Given the description of an element on the screen output the (x, y) to click on. 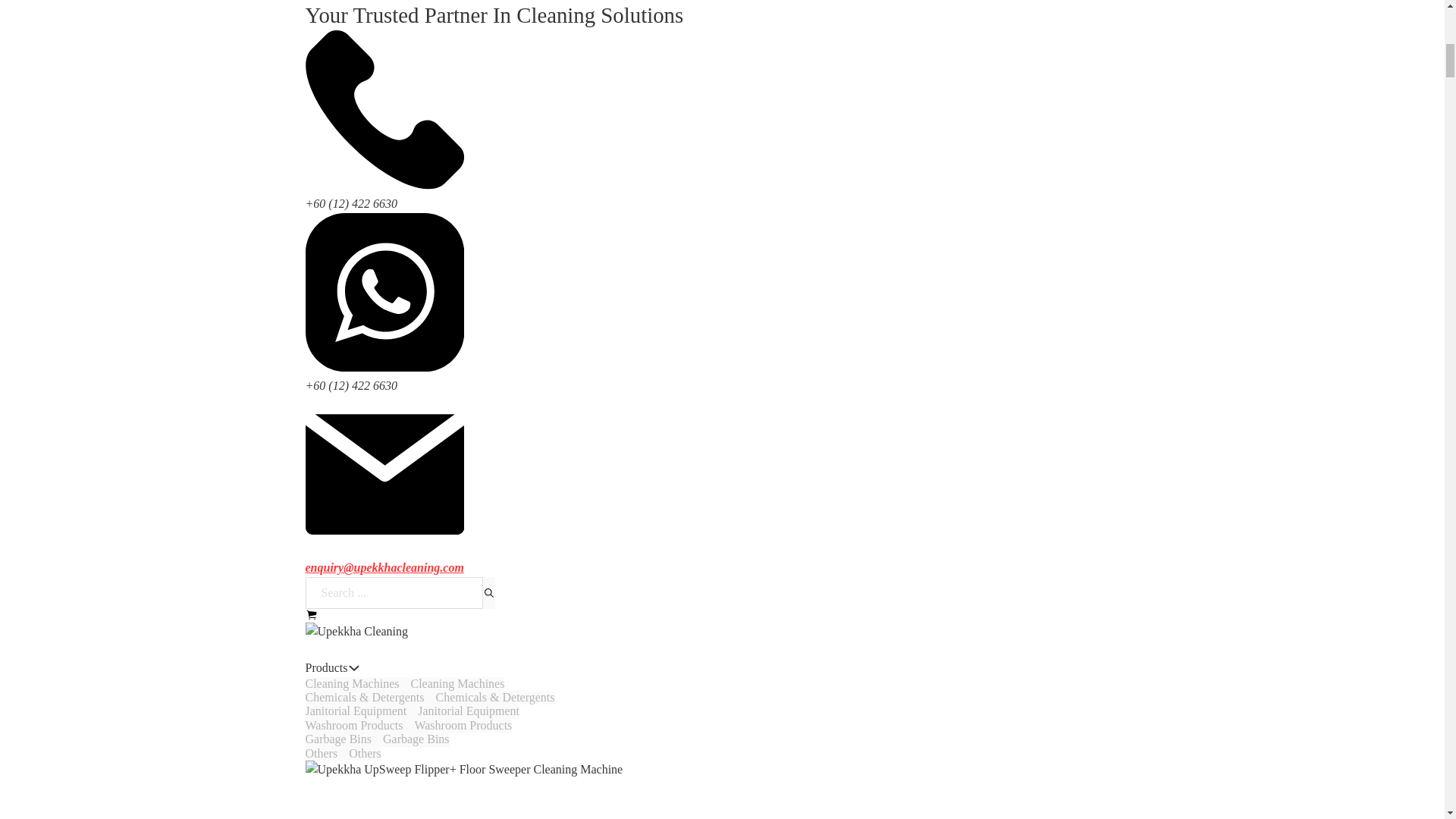
Floor Scrubber (340, 461)
Auto Scrubber (339, 648)
Floor Sweeper (339, 253)
